Given the description of an element on the screen output the (x, y) to click on. 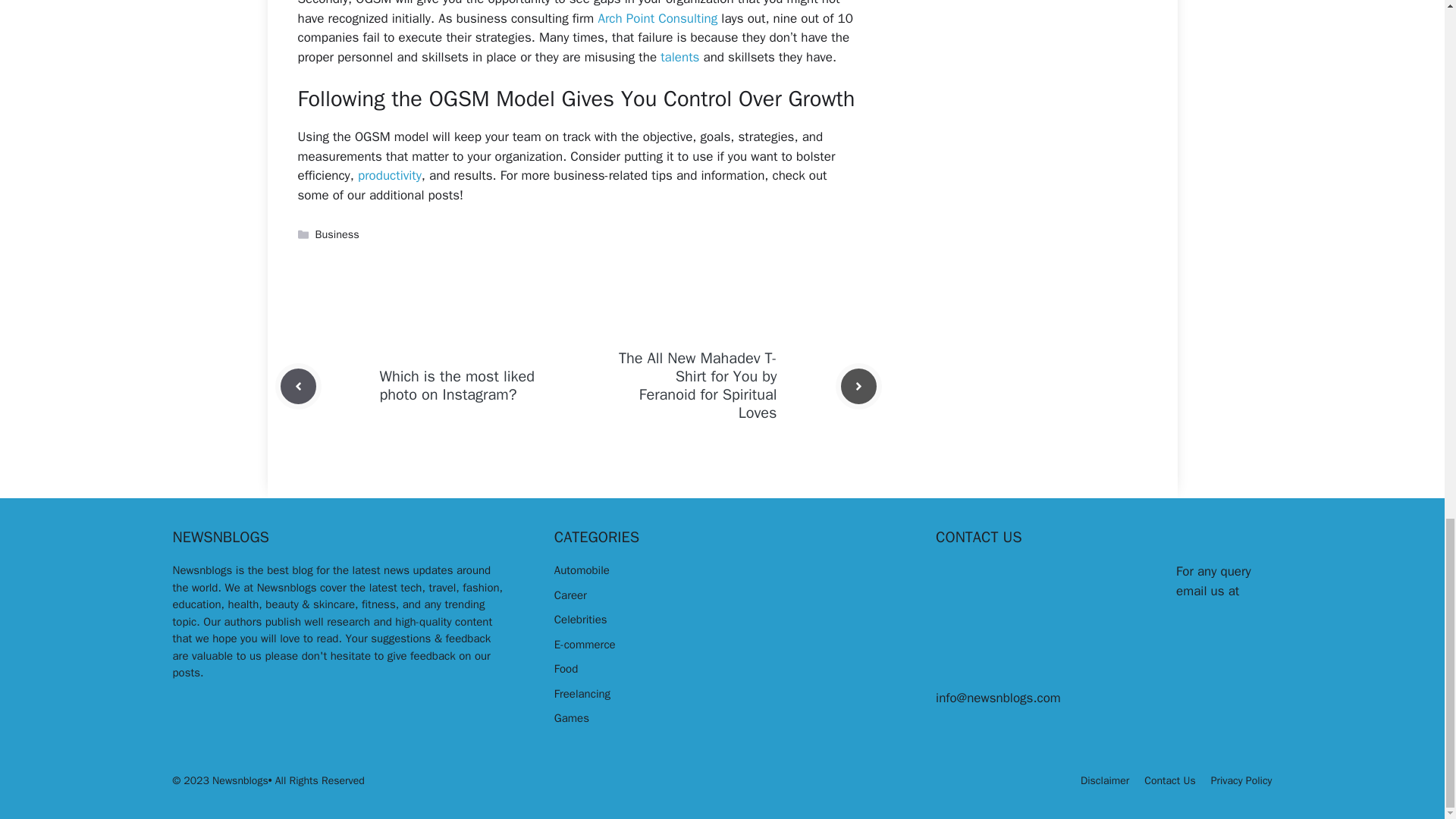
productivity (390, 175)
Newsnblogs (202, 570)
Automobile (582, 570)
Scroll back to top (1406, 100)
Celebrities (580, 619)
Which is the most liked photo on Instagram? (456, 385)
Career (570, 594)
E-commerce (584, 644)
Food (566, 668)
talents (679, 57)
Arch Point Consulting (656, 18)
Business (337, 233)
